Given the description of an element on the screen output the (x, y) to click on. 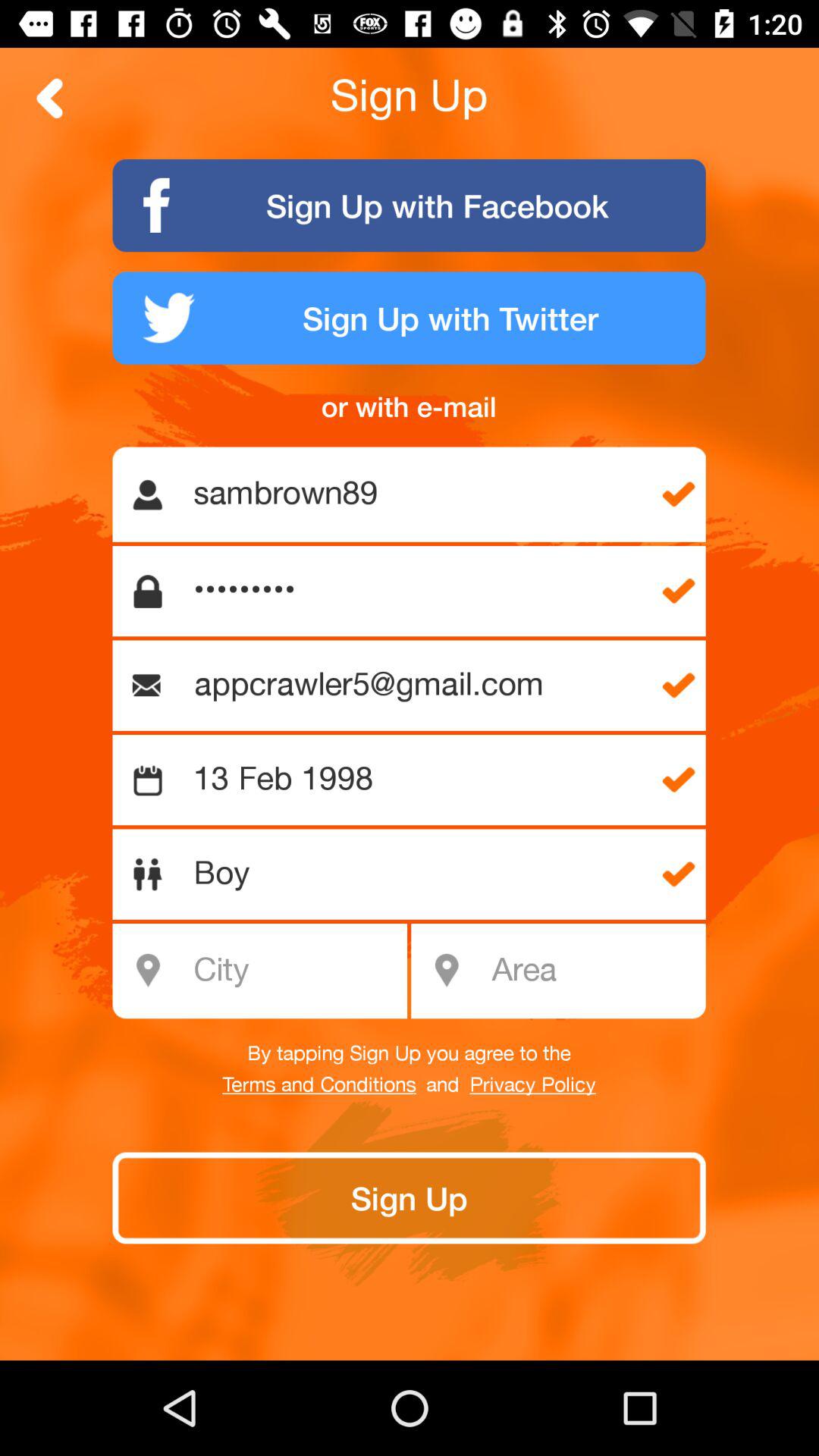
scroll until privacy policy icon (532, 1085)
